Given the description of an element on the screen output the (x, y) to click on. 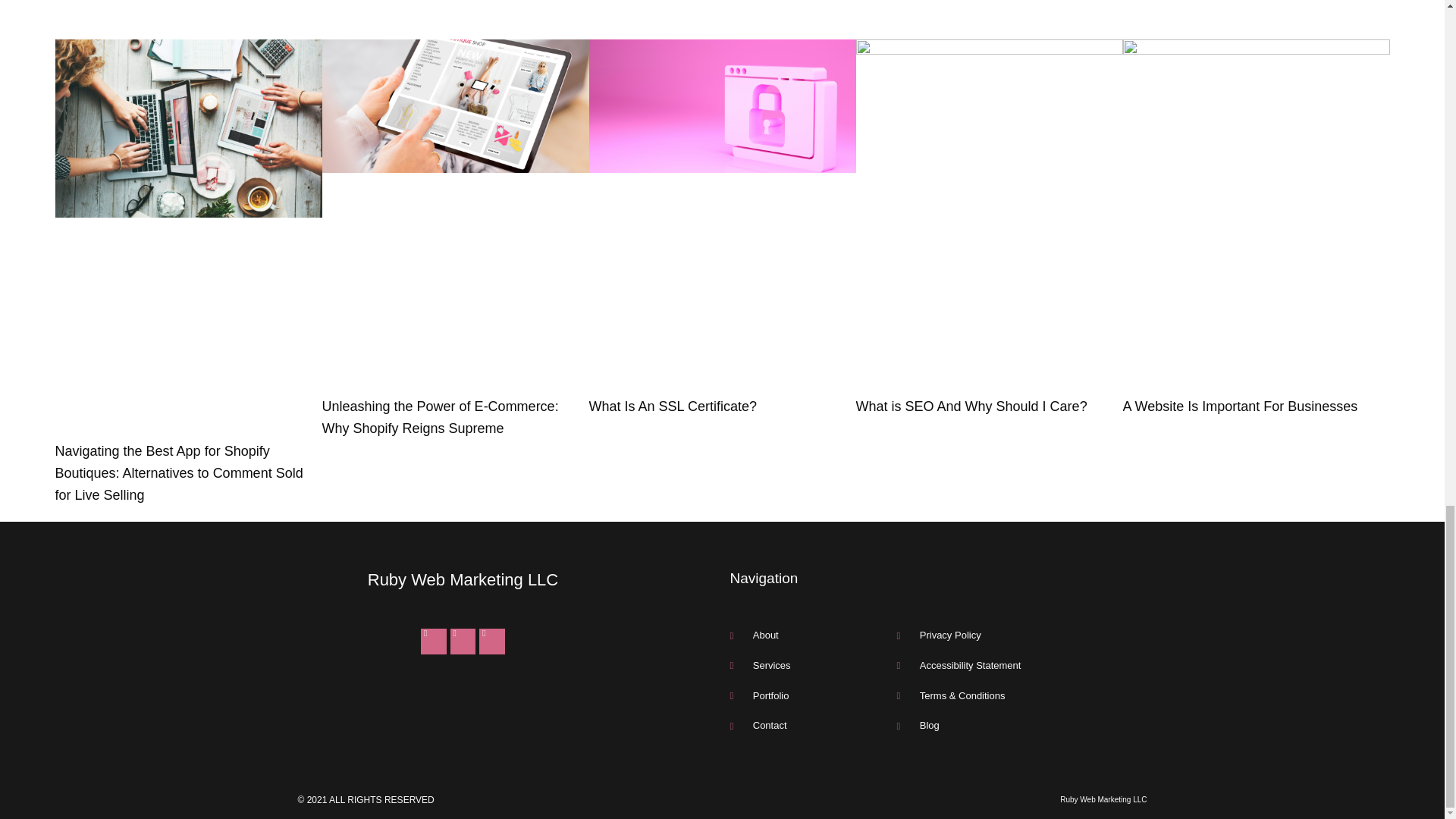
Accessibility Statement (1021, 665)
Ruby Web Marketing LLC (463, 579)
Contact (812, 725)
A Website Is Important For Businesses (1239, 406)
About (812, 635)
What Is An SSL Certificate? (671, 406)
Privacy Policy (1021, 635)
Services (812, 665)
What is SEO And Why Should I Care? (971, 406)
Portfolio (812, 695)
